Given the description of an element on the screen output the (x, y) to click on. 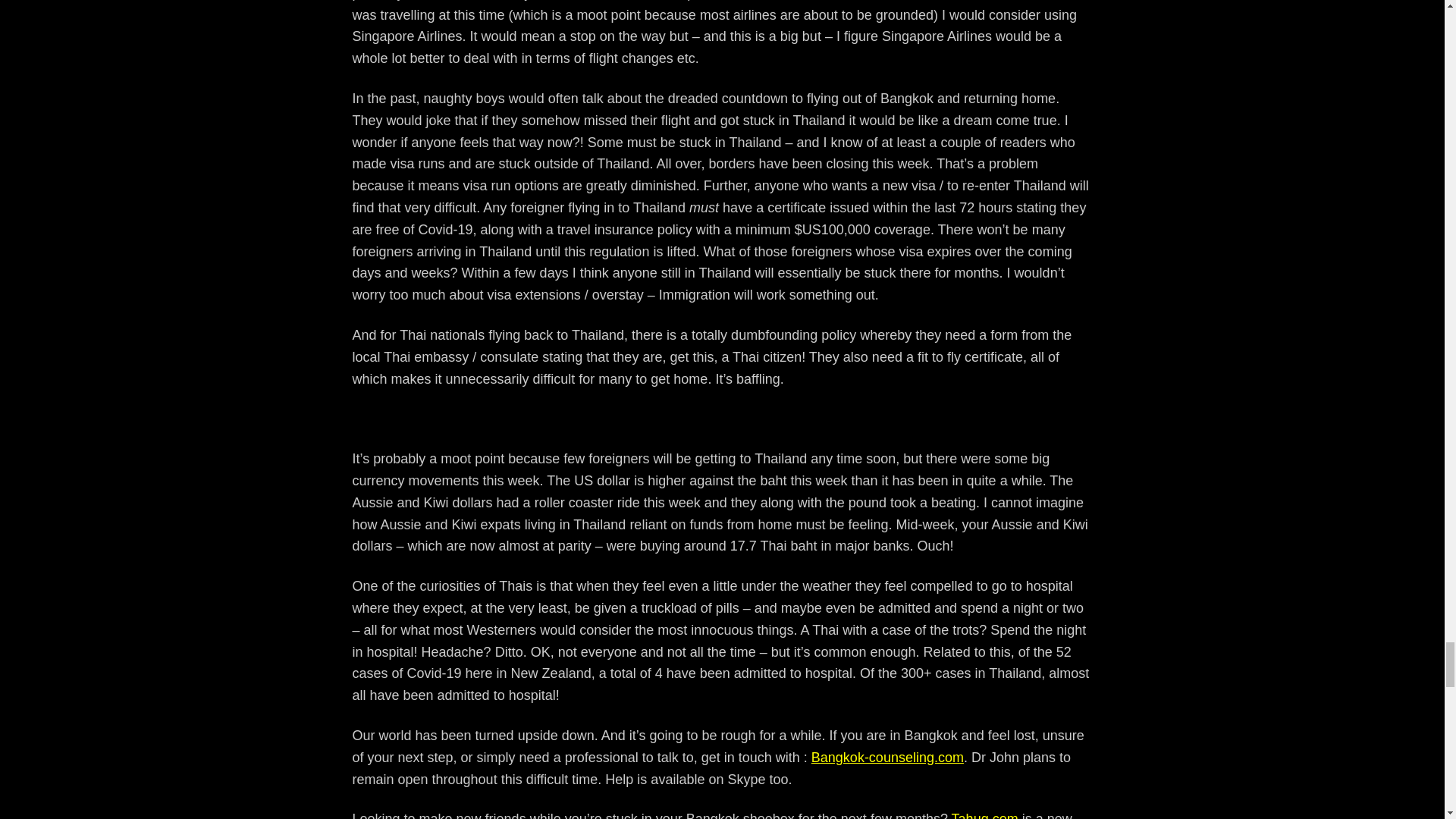
Tahug.com (984, 815)
Bangkok-counseling.com (886, 757)
